Given the description of an element on the screen output the (x, y) to click on. 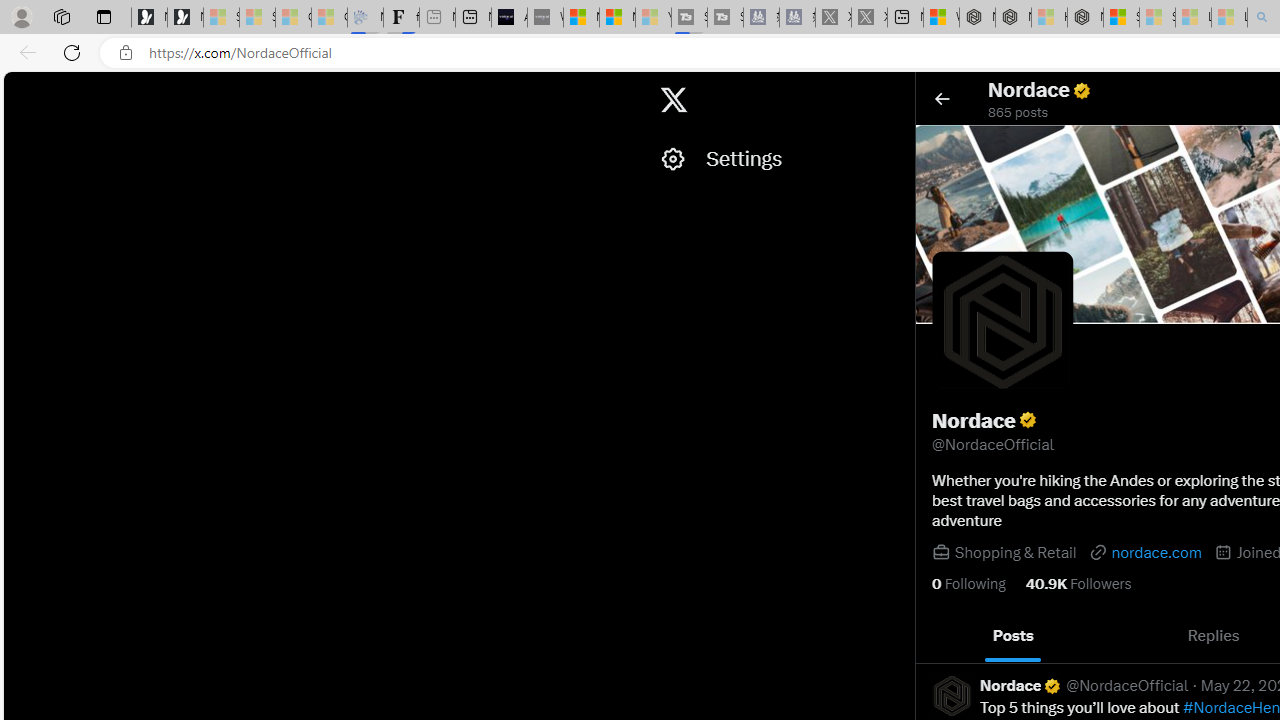
Wildlife - MSN (941, 17)
Nordace - Summer Adventures 2024 (1012, 17)
Square profile picture and Opens profile photo (1002, 321)
0 Following (968, 583)
X - Sleeping (869, 17)
Square profile picture (951, 695)
nordace.com (1144, 552)
Square profile picture and Opens profile photo (1003, 322)
Shopping & Retail (1014, 551)
